Given the description of an element on the screen output the (x, y) to click on. 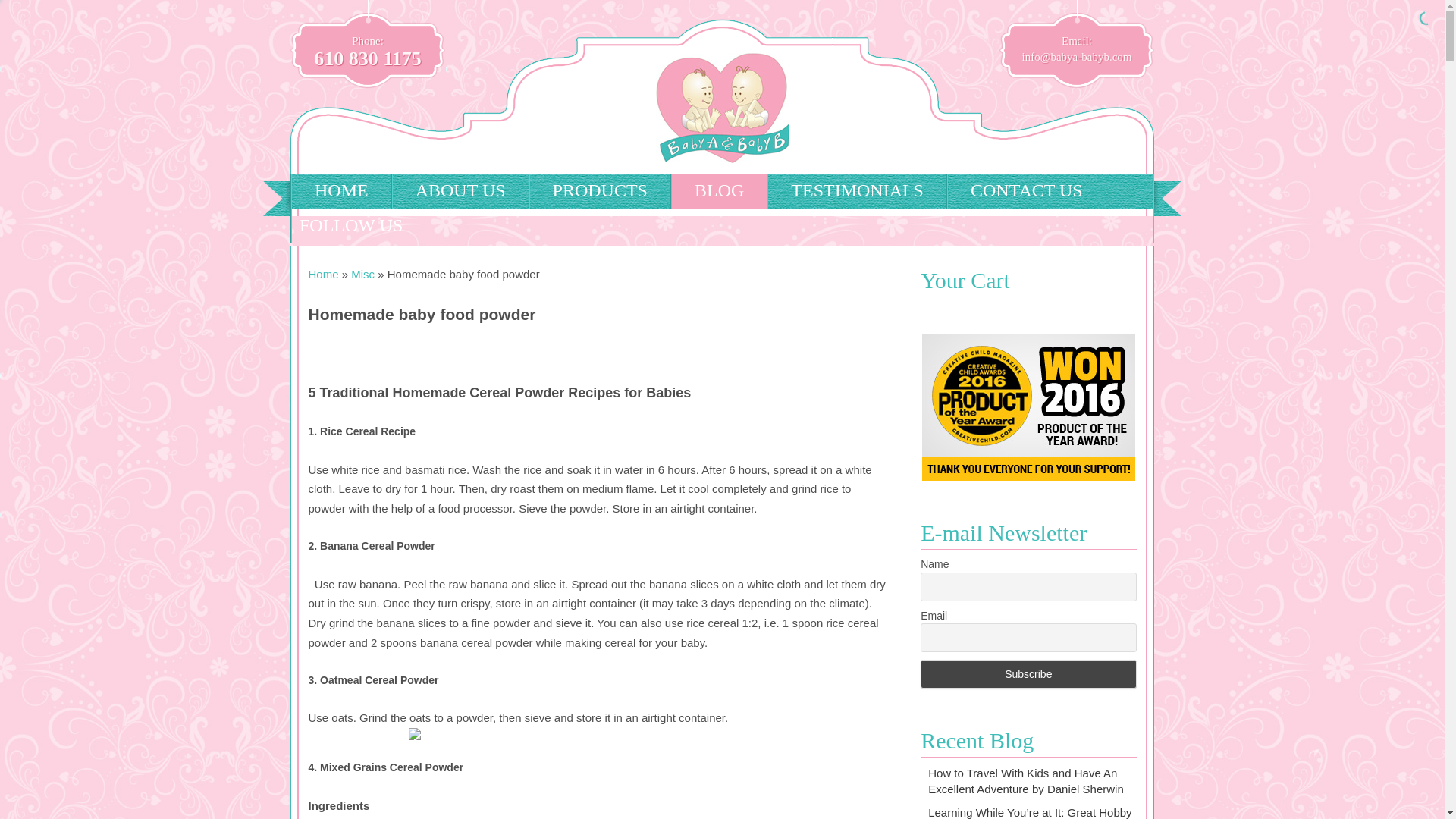
ABOUT US (460, 190)
FOLLOW US (362, 225)
Home (322, 273)
Subscribe (1027, 674)
Subscribe (1027, 674)
PRODUCTS (599, 190)
BLOG (719, 190)
HOME (341, 190)
CONTACT US (1026, 190)
Misc (362, 273)
Misc (362, 273)
TESTIMONIALS (857, 190)
